Given the description of an element on the screen output the (x, y) to click on. 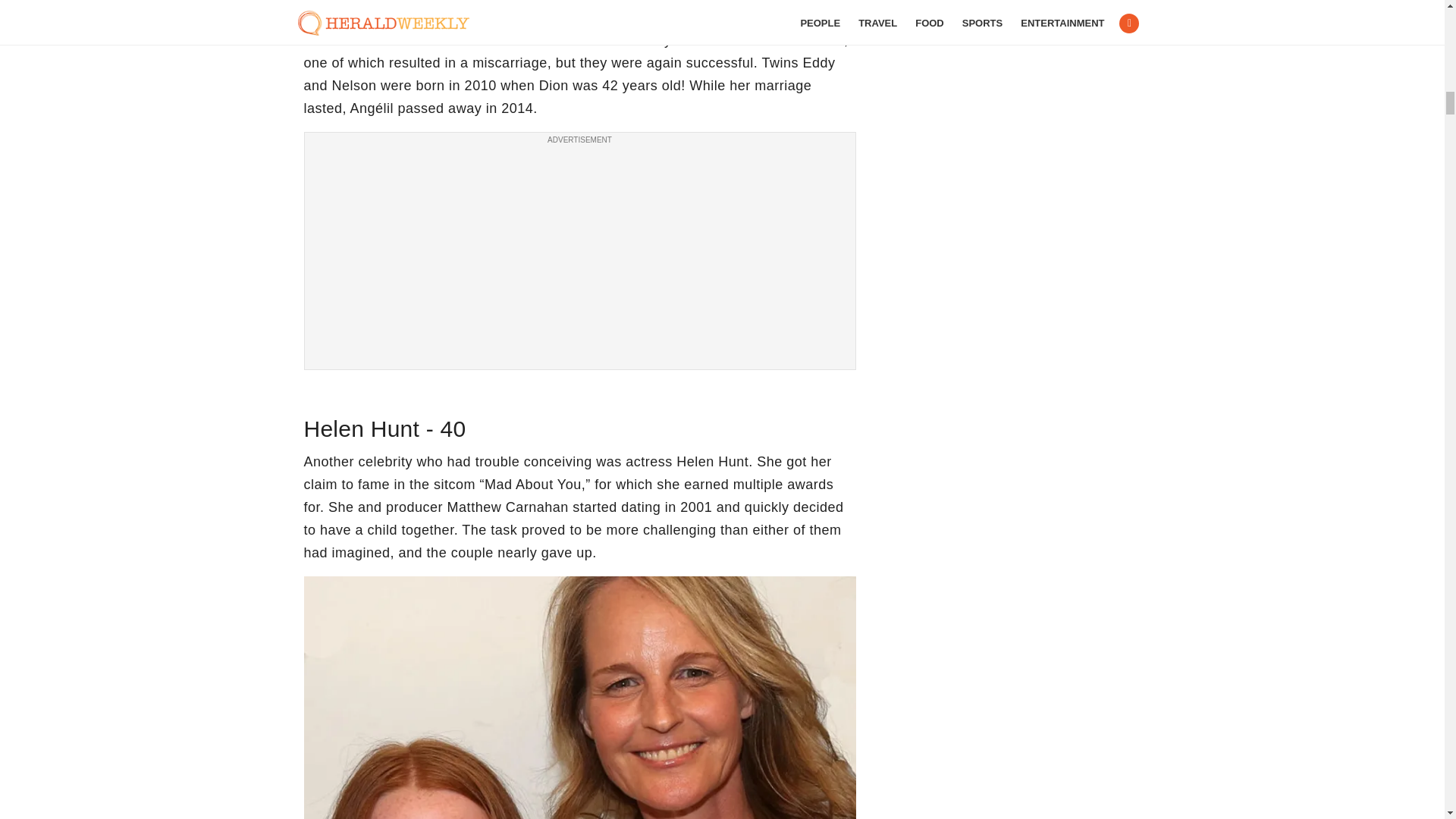
Helen Hunt - 40 (579, 697)
